Given the description of an element on the screen output the (x, y) to click on. 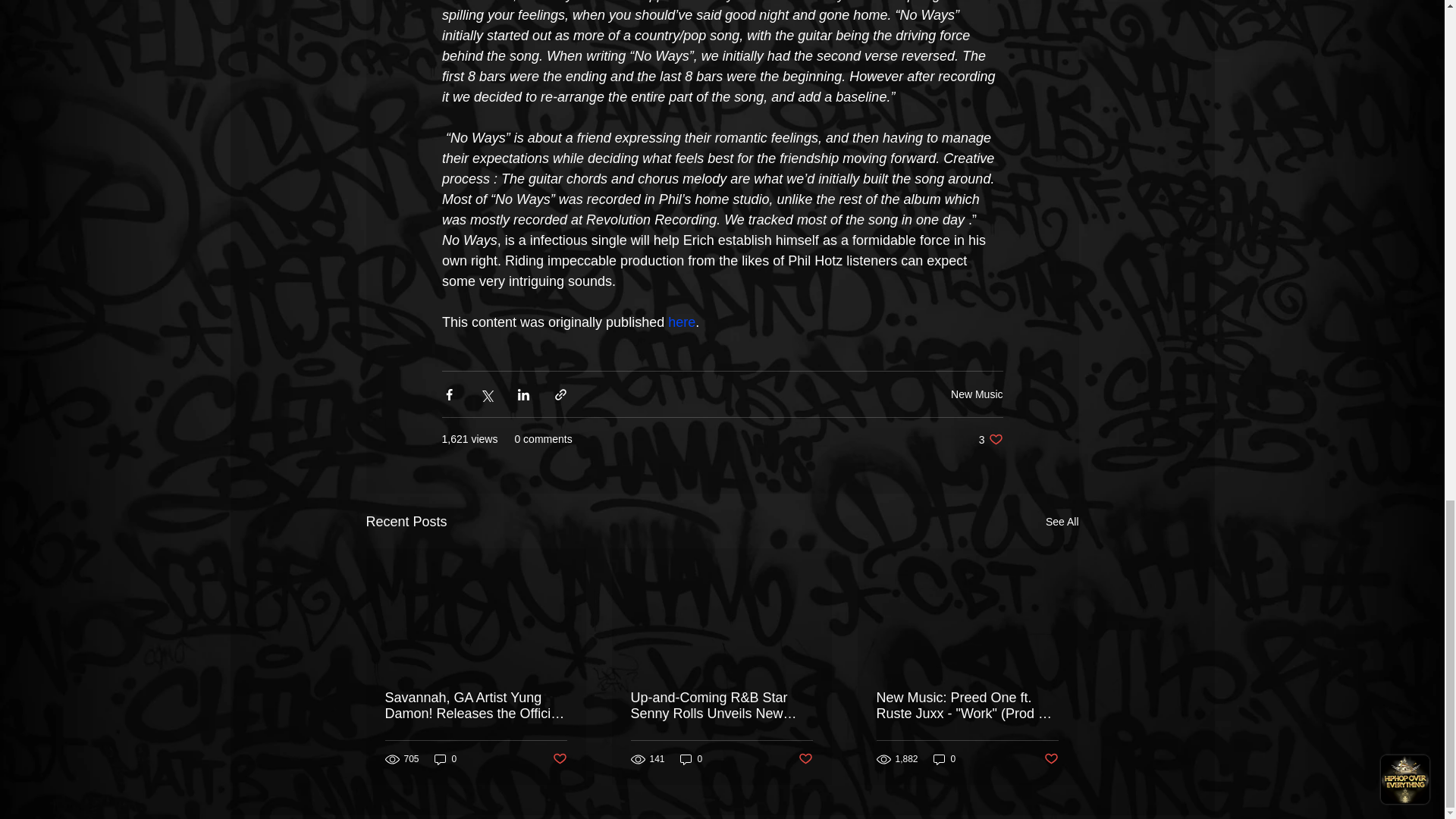
here (681, 322)
See All (1061, 522)
New Music (990, 439)
